Given the description of an element on the screen output the (x, y) to click on. 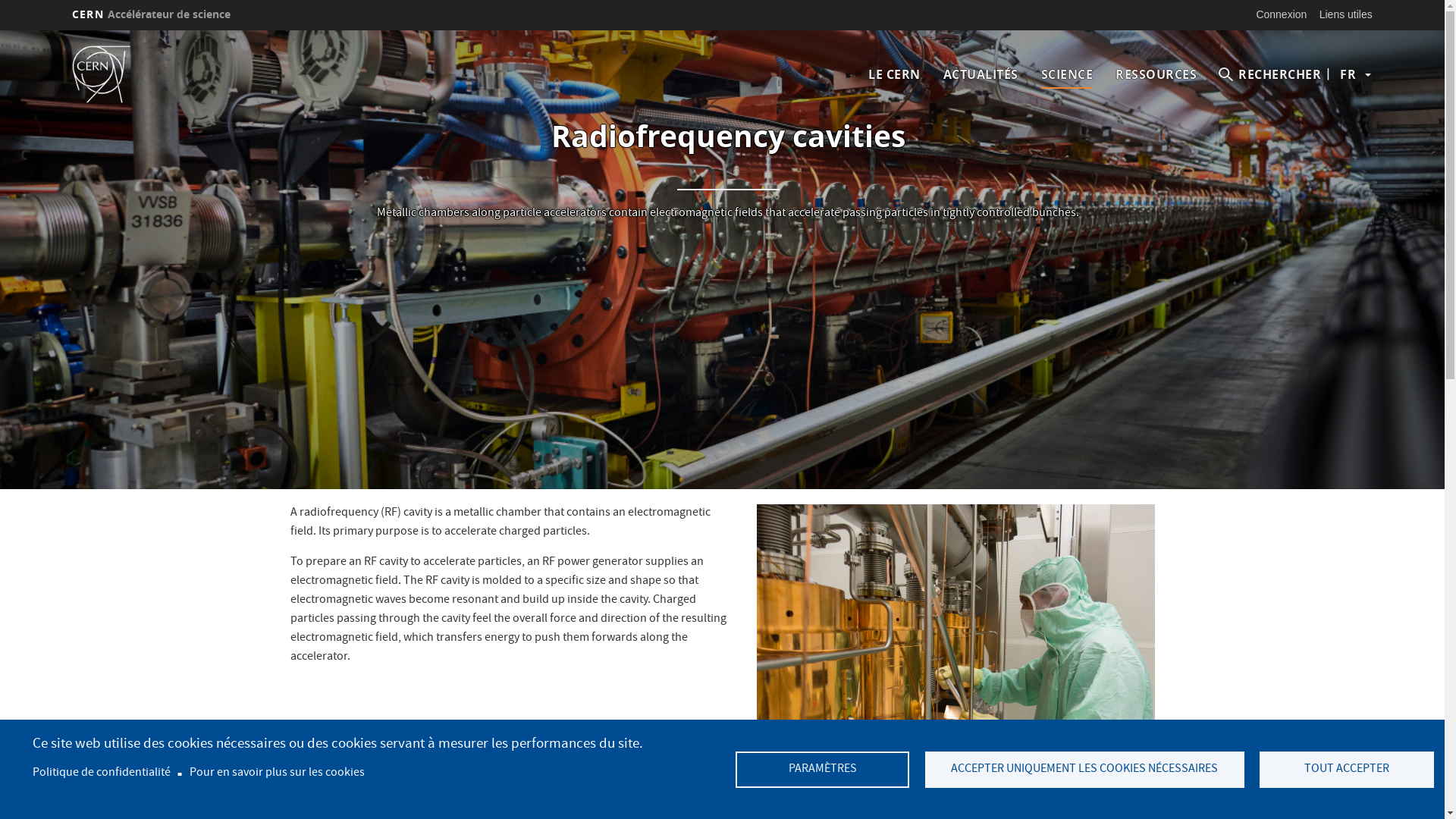
LE CERN Element type: text (894, 74)
Aller au contenu principal Element type: text (0, 30)
SCIENCE Element type: text (1067, 74)
|
FR Element type: text (1347, 74)
View on CDS Element type: hover (955, 636)
RESSOURCES Element type: text (1155, 74)
Pour en savoir plus sur les cookies Element type: text (276, 773)
Connexion Element type: text (1280, 14)
TOUT ACCEPTER Element type: text (1346, 769)
RECHERCHER Element type: text (1270, 74)
Accueil Element type: hover (122, 74)
Liens utiles Element type: text (1345, 14)
